Given the description of an element on the screen output the (x, y) to click on. 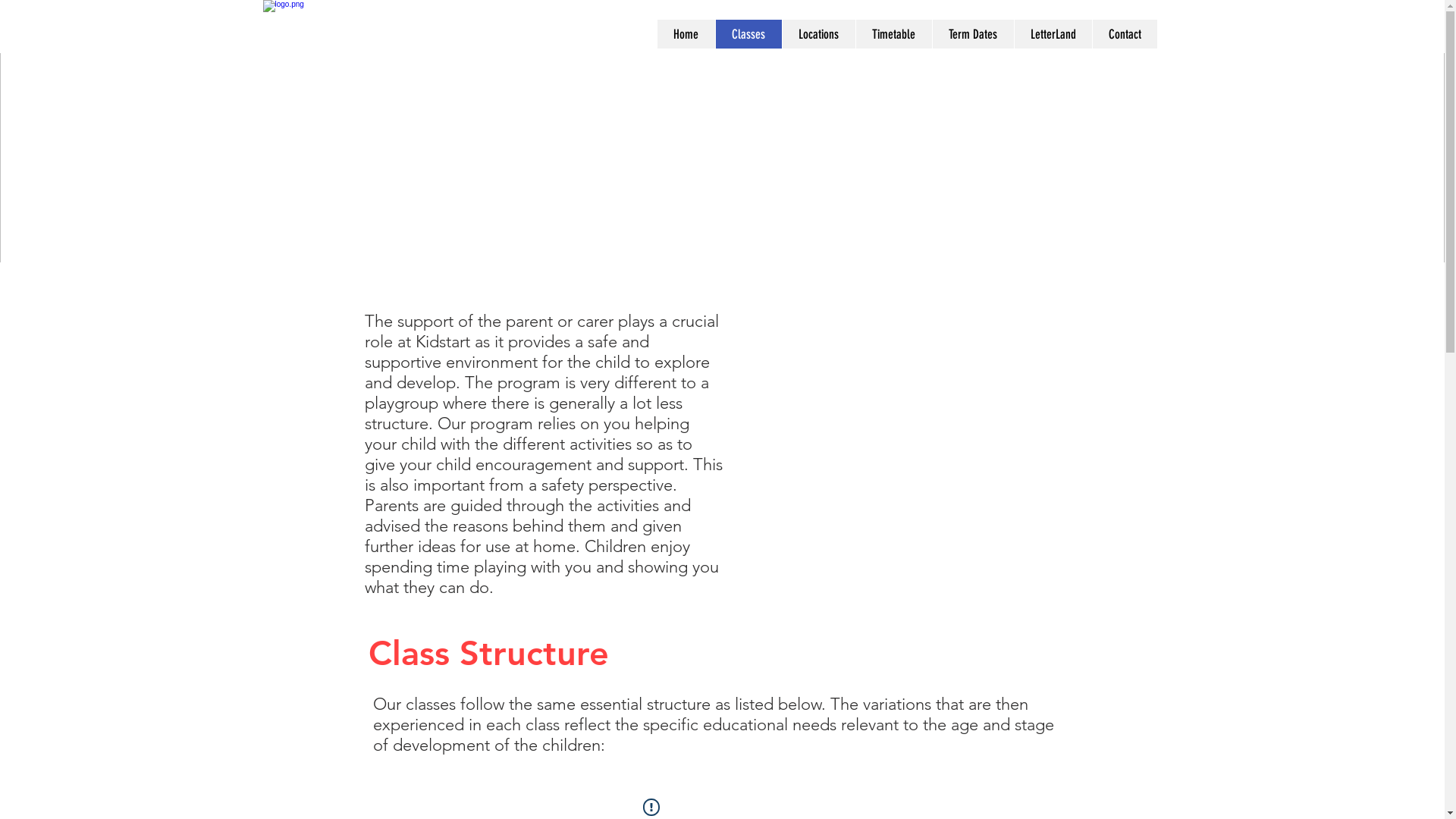
Timetable Element type: text (893, 33)
LetterLand Element type: text (1052, 33)
Term Dates Element type: text (972, 33)
Locations Element type: text (817, 33)
Classes Element type: text (747, 33)
Contact Element type: text (1124, 33)
Home Element type: text (685, 33)
